Given the description of an element on the screen output the (x, y) to click on. 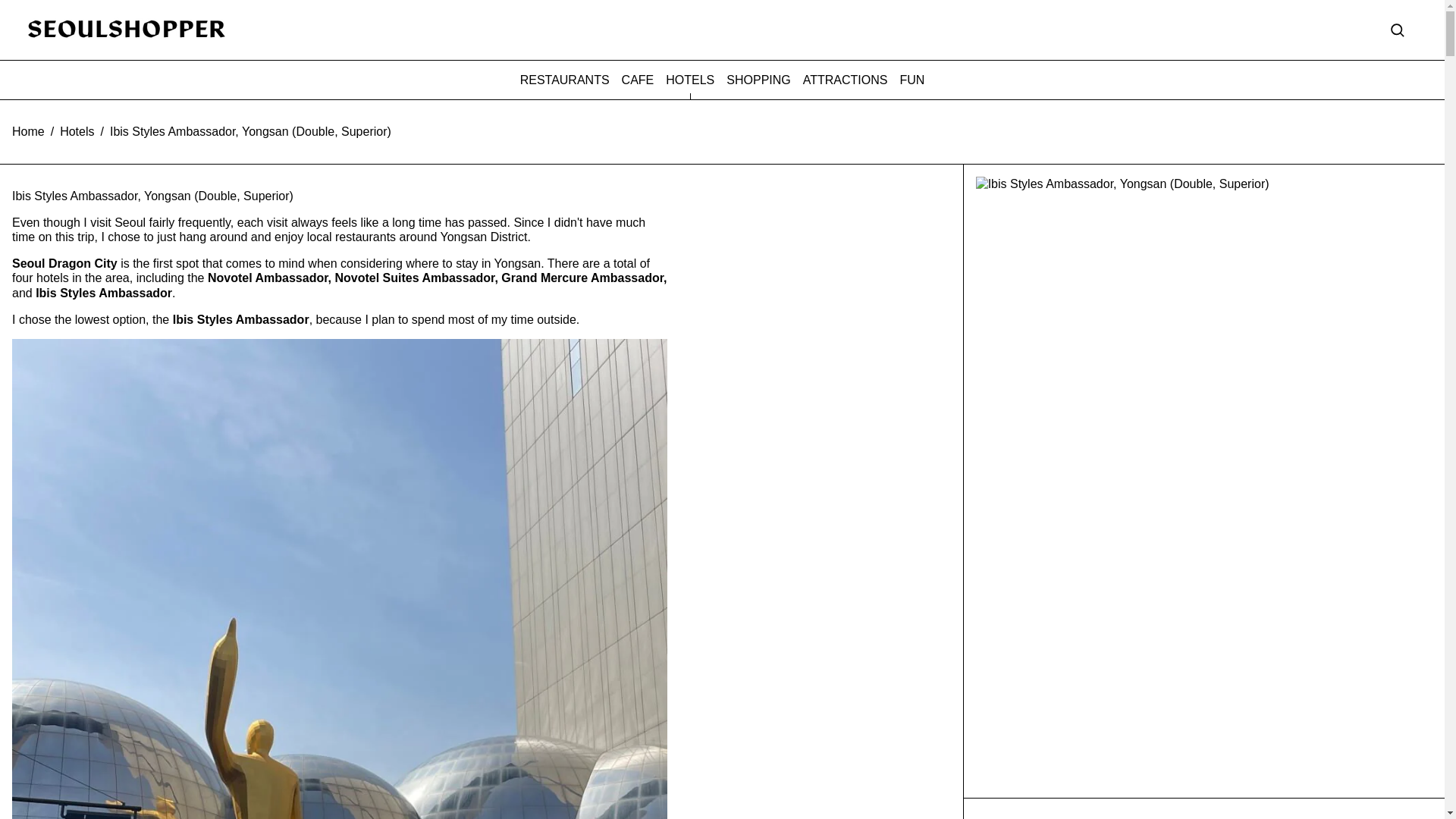
HOTELS (689, 79)
SHOPPING (758, 79)
FUN (911, 79)
Hotels (76, 131)
CAFE (637, 79)
RESTAURANTS (564, 79)
ATTRACTIONS (845, 79)
